Given the description of an element on the screen output the (x, y) to click on. 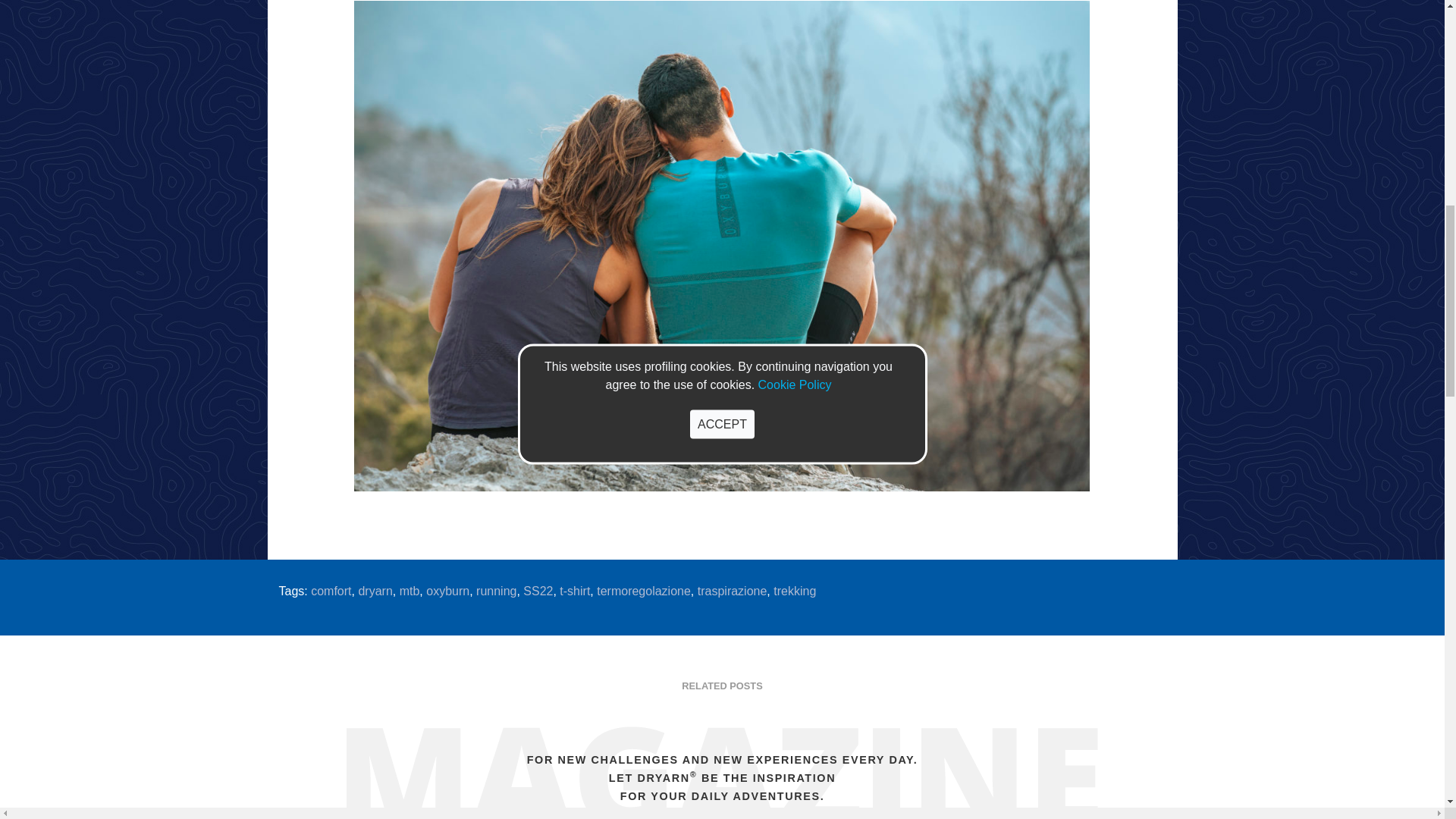
dryarn (374, 590)
traspirazione (732, 590)
running (496, 590)
t-shirt (574, 590)
oxyburn (447, 590)
SS22 (537, 590)
termoregolazione (643, 590)
mtb (409, 590)
comfort (330, 590)
